Given the description of an element on the screen output the (x, y) to click on. 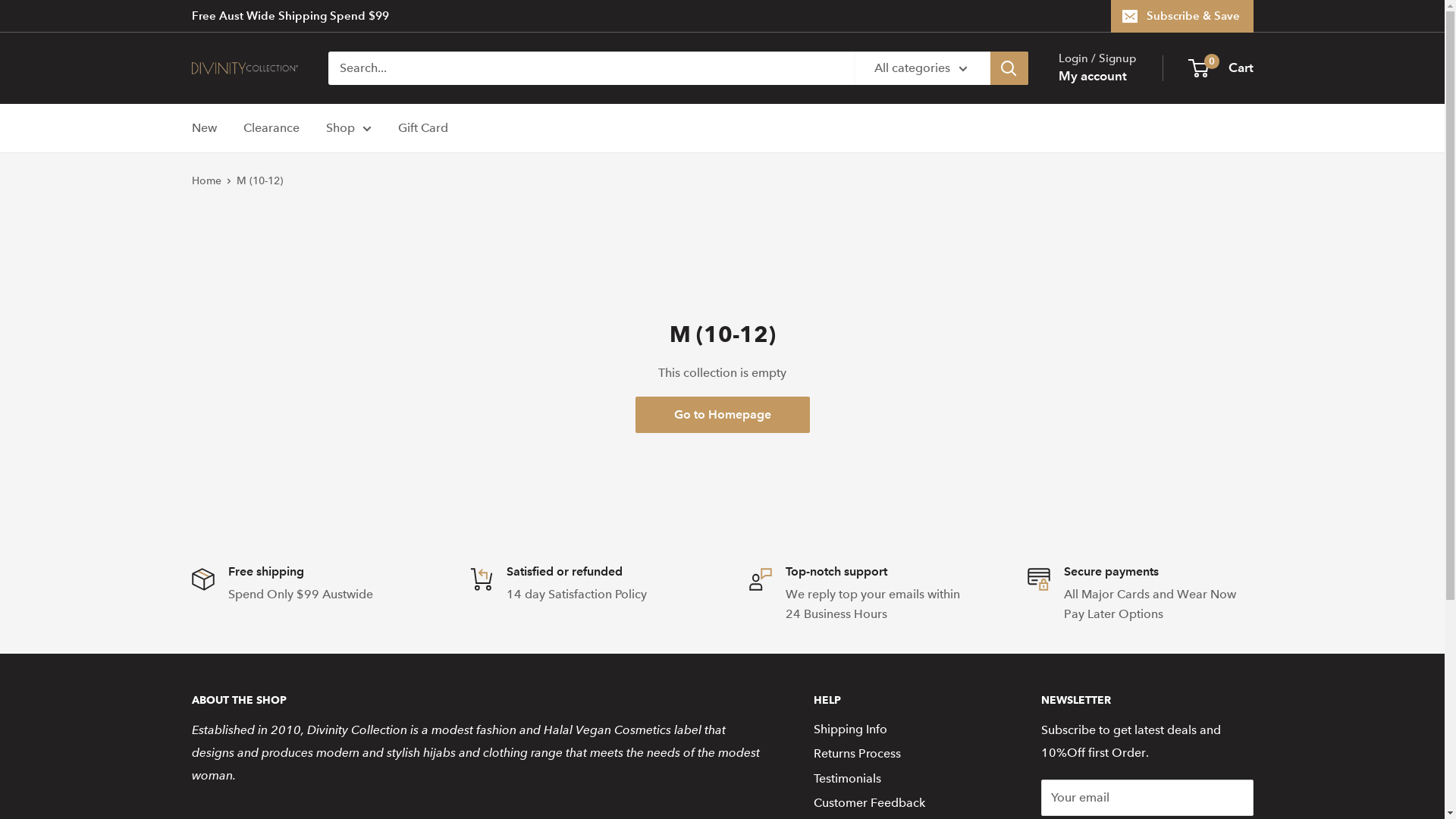
Shop Element type: text (348, 127)
Clearance Element type: text (270, 127)
Subscribe & Save Element type: text (1181, 15)
Customer Feedback Element type: text (899, 802)
0
Cart Element type: text (1220, 68)
AX Element type: text (188, 777)
HELP Element type: text (899, 700)
Returns Process Element type: text (899, 753)
Go to Homepage Element type: text (722, 414)
My account Element type: text (1092, 76)
Shipping Info Element type: text (899, 729)
ABOUT THE SHOP Element type: text (475, 700)
Gift Card Element type: text (422, 127)
Divinity Collection Element type: text (244, 68)
M (10-12) Element type: text (259, 180)
New Element type: text (203, 127)
Testimonials Element type: text (899, 778)
Home Element type: text (205, 180)
AL Element type: text (188, 798)
